Given the description of an element on the screen output the (x, y) to click on. 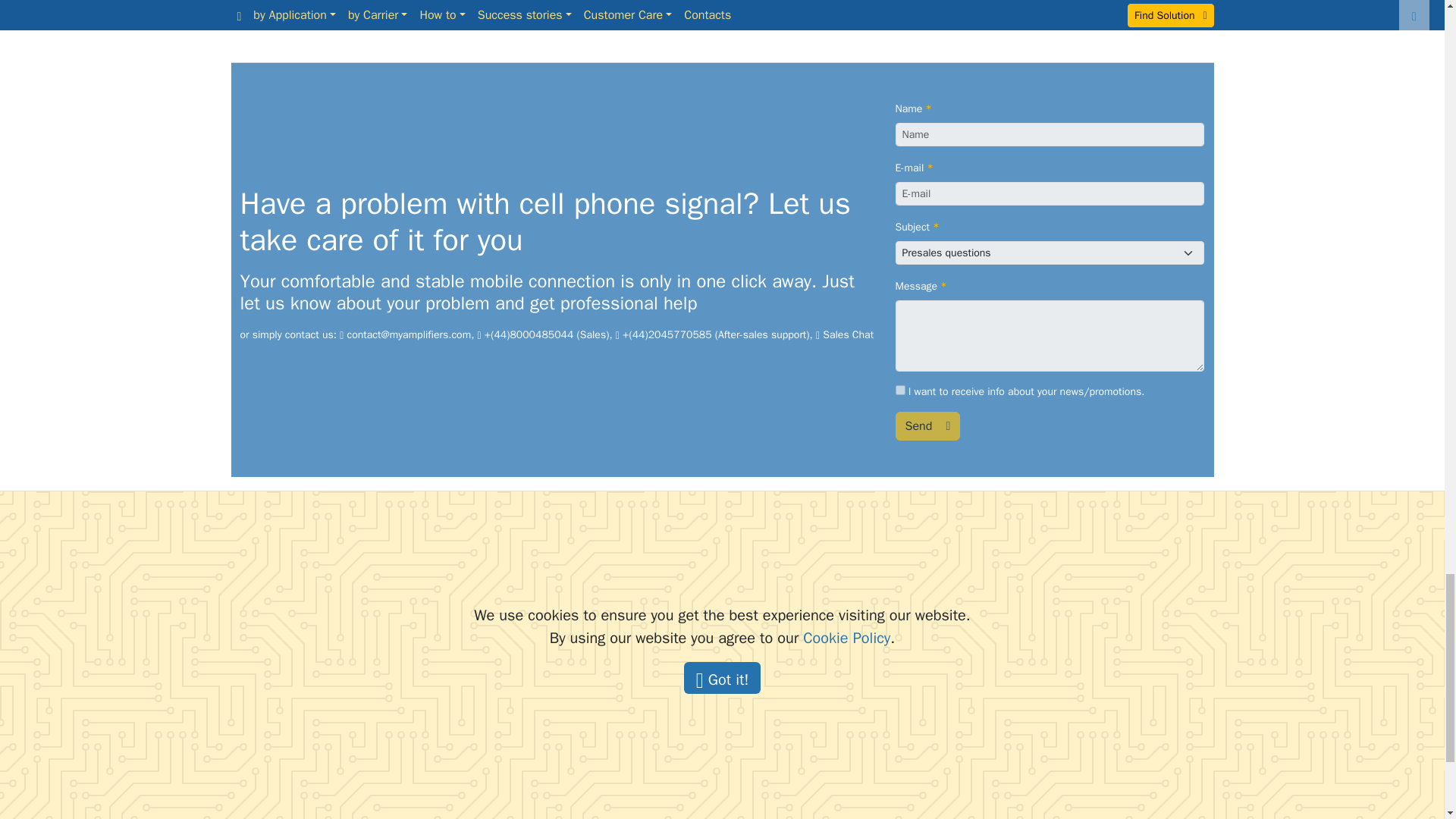
1 (899, 389)
